Given the description of an element on the screen output the (x, y) to click on. 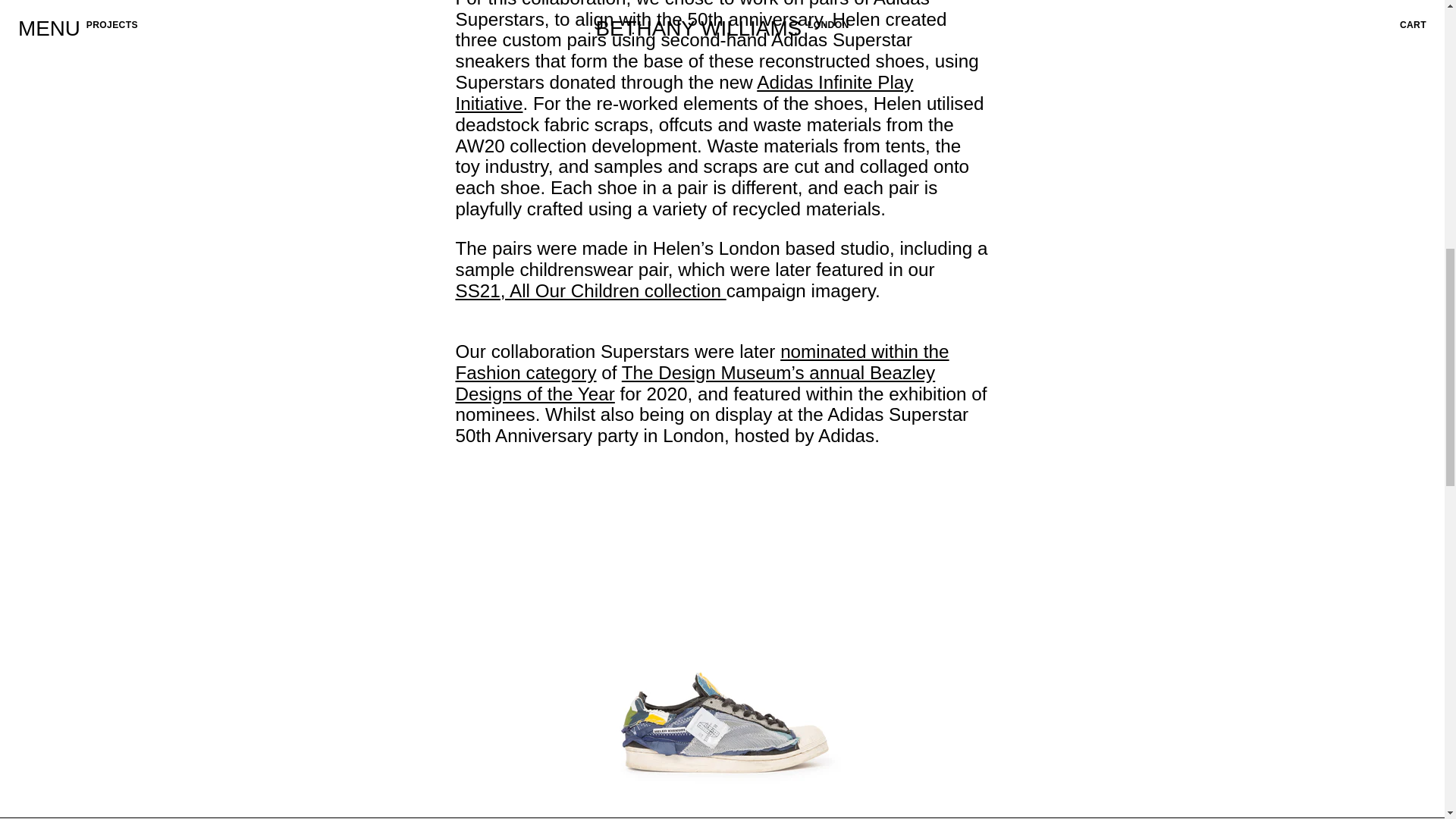
SUBSCRIBE (1392, 26)
Adidas Infinite Play Initiative (683, 92)
11.12 (448, 80)
SS21, All Our Children collection (589, 290)
INSTAGRAM (408, 57)
PRIVACY POLICY (422, 41)
CONTACT (44, 57)
SHIPPING POLICY (68, 25)
nominated within the Fashion category (701, 362)
RETURN POLICY (420, 25)
TERMS OF SERVICE (74, 41)
BETHANY WILLIAMS (84, 80)
